Given the description of an element on the screen output the (x, y) to click on. 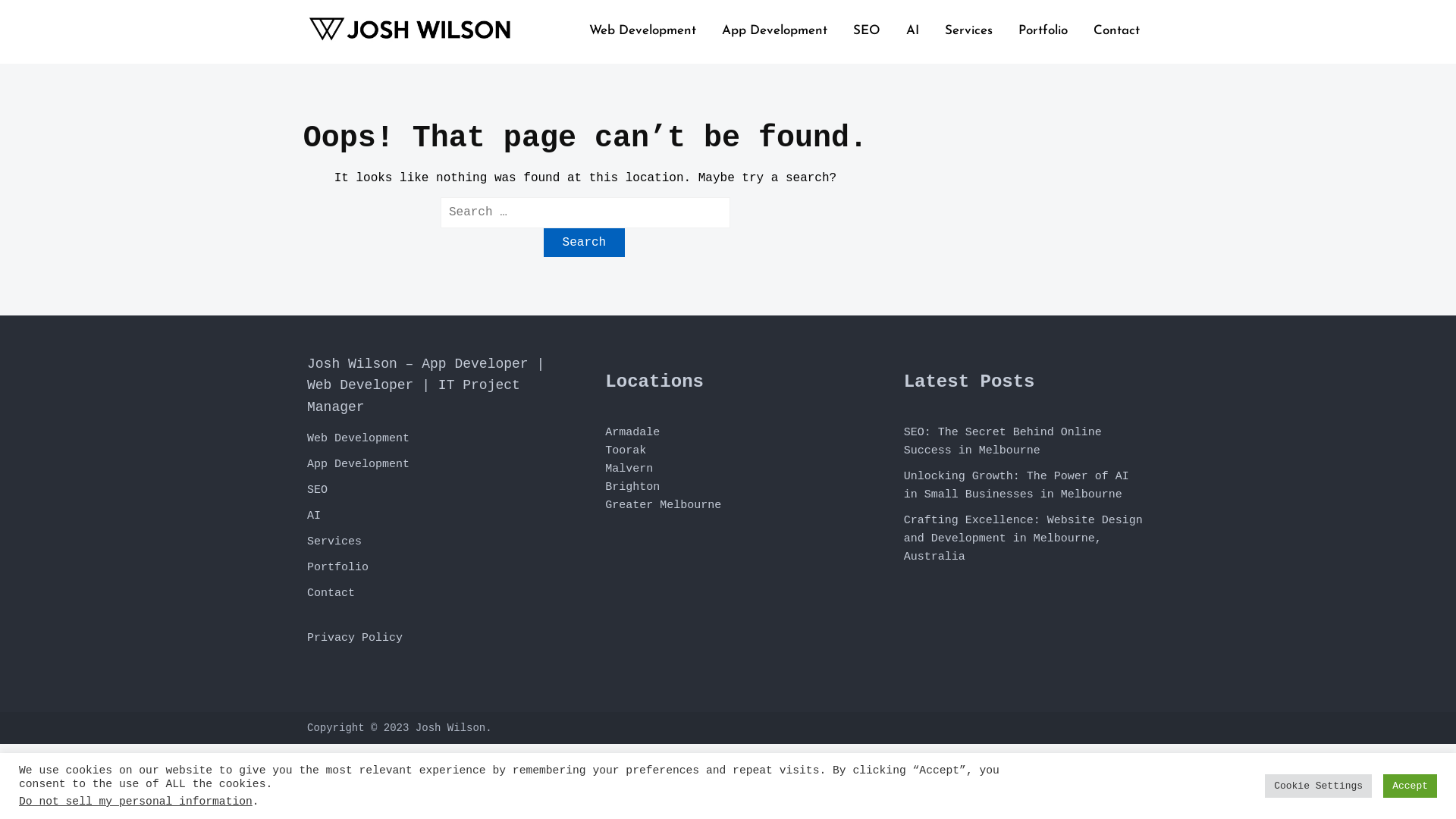
Web Development Element type: text (642, 30)
AI Element type: text (912, 30)
Do not sell my personal information Element type: text (135, 801)
Malvern Element type: text (628, 468)
SEO: The Secret Behind Online Success in Melbourne Element type: text (1002, 441)
Services Element type: text (968, 30)
Accept Element type: text (1410, 785)
Search Element type: text (584, 242)
App Development Element type: text (774, 30)
App Development Element type: text (358, 464)
AI Element type: text (313, 515)
Portfolio Element type: text (337, 567)
Services Element type: text (334, 541)
Toorak Element type: text (625, 450)
Skip to content Element type: text (3, 3)
Contact Element type: text (330, 592)
Josh Wilson Element type: text (450, 727)
Cookie Settings Element type: text (1317, 785)
Web Development Element type: text (358, 438)
Greater Melbourne Element type: text (663, 504)
Contact Element type: text (1116, 30)
Privacy Policy Element type: text (354, 637)
SEO Element type: text (866, 30)
Portfolio Element type: text (1042, 30)
Armadale Element type: text (632, 432)
Brighton Element type: text (632, 486)
SEO Element type: text (317, 489)
